Given the description of an element on the screen output the (x, y) to click on. 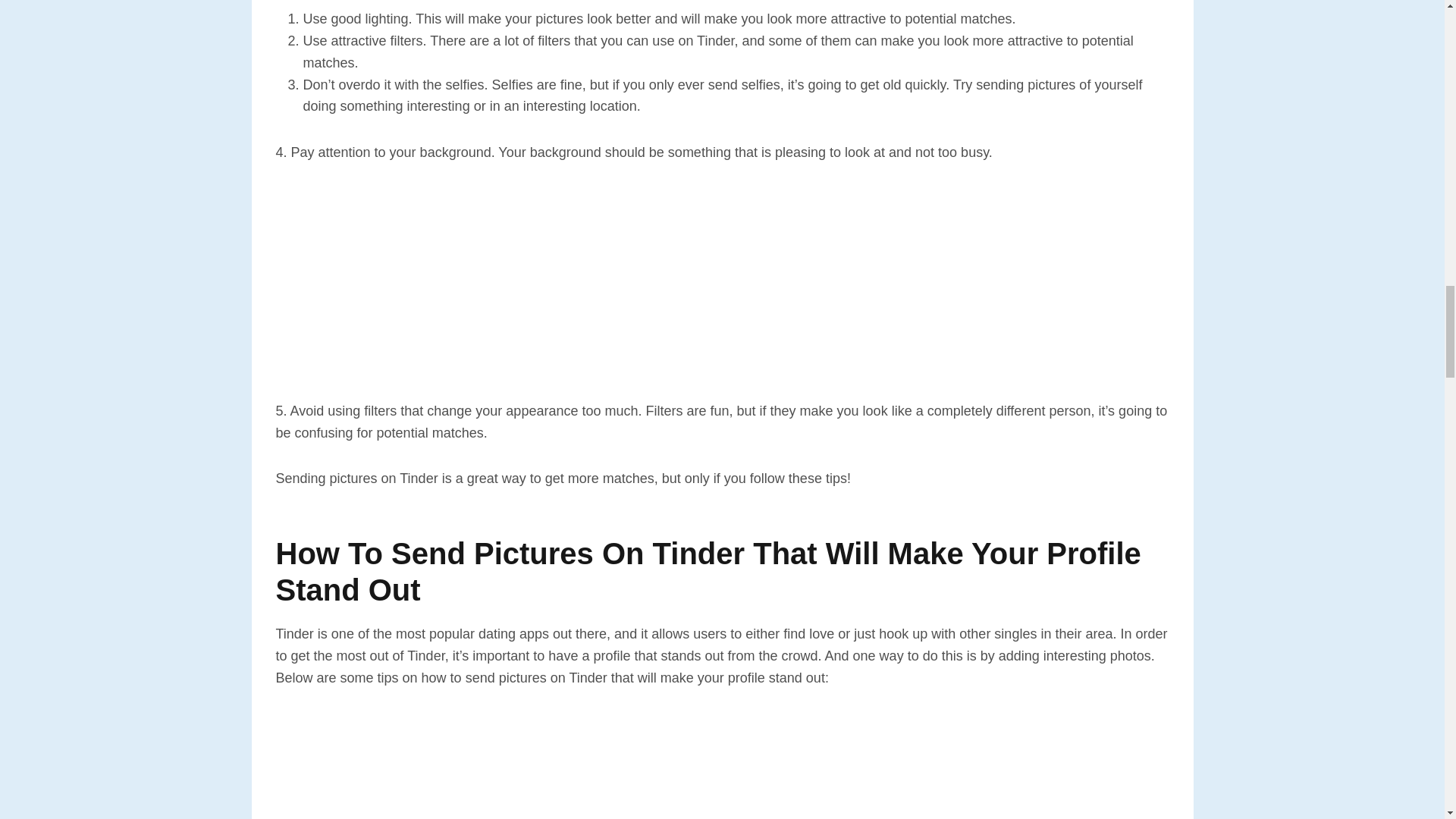
Advertisement (722, 766)
